Given the description of an element on the screen output the (x, y) to click on. 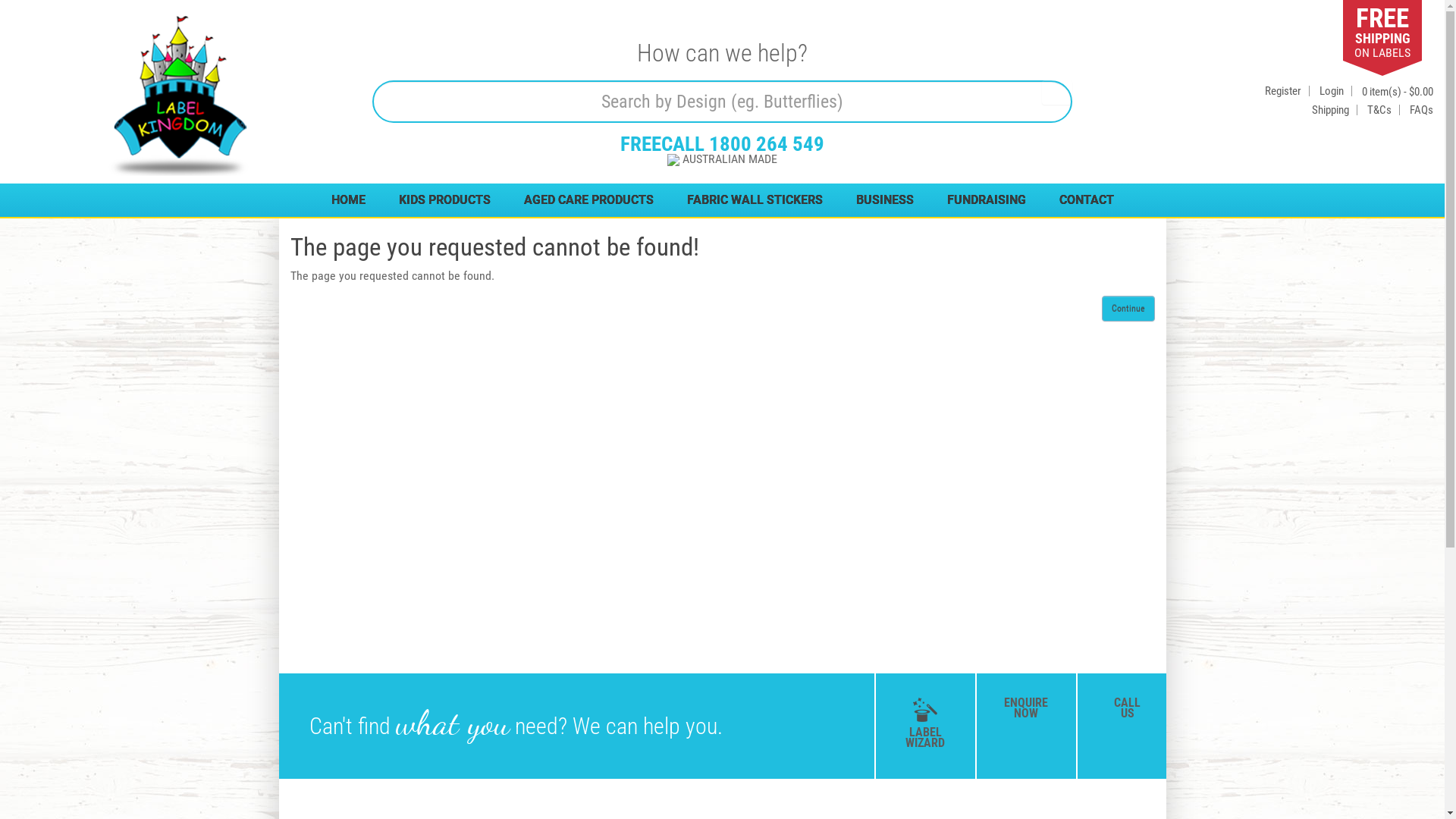
Shipping Element type: text (1330, 109)
AGED CARE PRODUCTS Element type: text (588, 199)
Continue Element type: text (1127, 308)
HOME Element type: text (347, 199)
0 item(s) - $0.00 Element type: text (1397, 91)
LABEL
WIZARD Element type: text (924, 731)
ENQUIRE
NOW Element type: text (1026, 707)
CALL
US Element type: text (1126, 707)
KIDS PRODUCTS Element type: text (444, 199)
FABRIC WALL STICKERS Element type: text (754, 199)
Label Kingdom Element type: hover (180, 95)
FREECALL 1800 264 549 Element type: text (722, 143)
BUSINESS Element type: text (884, 199)
FUNDRAISING Element type: text (985, 199)
Register Element type: text (1282, 90)
FAQs Element type: text (1421, 109)
Login Element type: text (1331, 90)
T&Cs Element type: text (1379, 109)
CONTACT Element type: text (1085, 199)
